Given the description of an element on the screen output the (x, y) to click on. 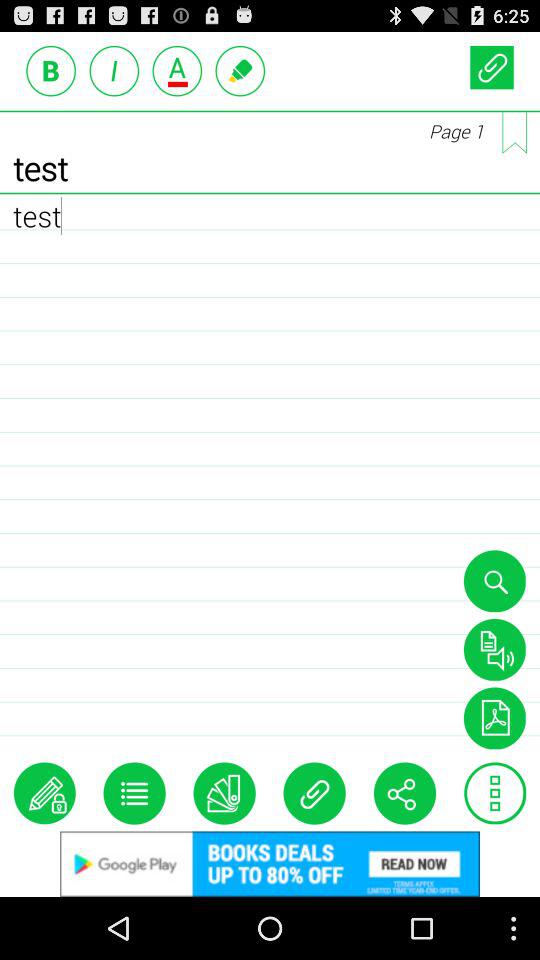
edit (44, 793)
